Given the description of an element on the screen output the (x, y) to click on. 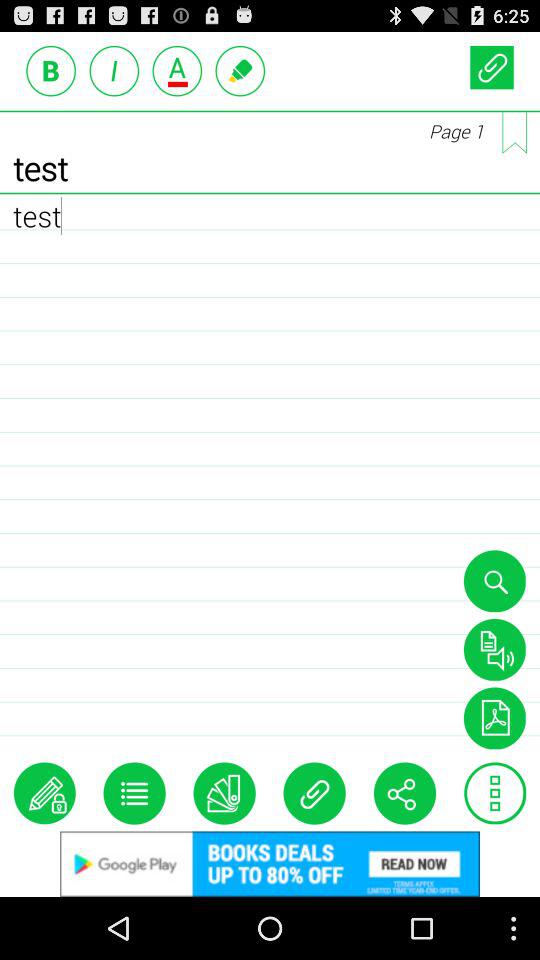
edit (44, 793)
